Given the description of an element on the screen output the (x, y) to click on. 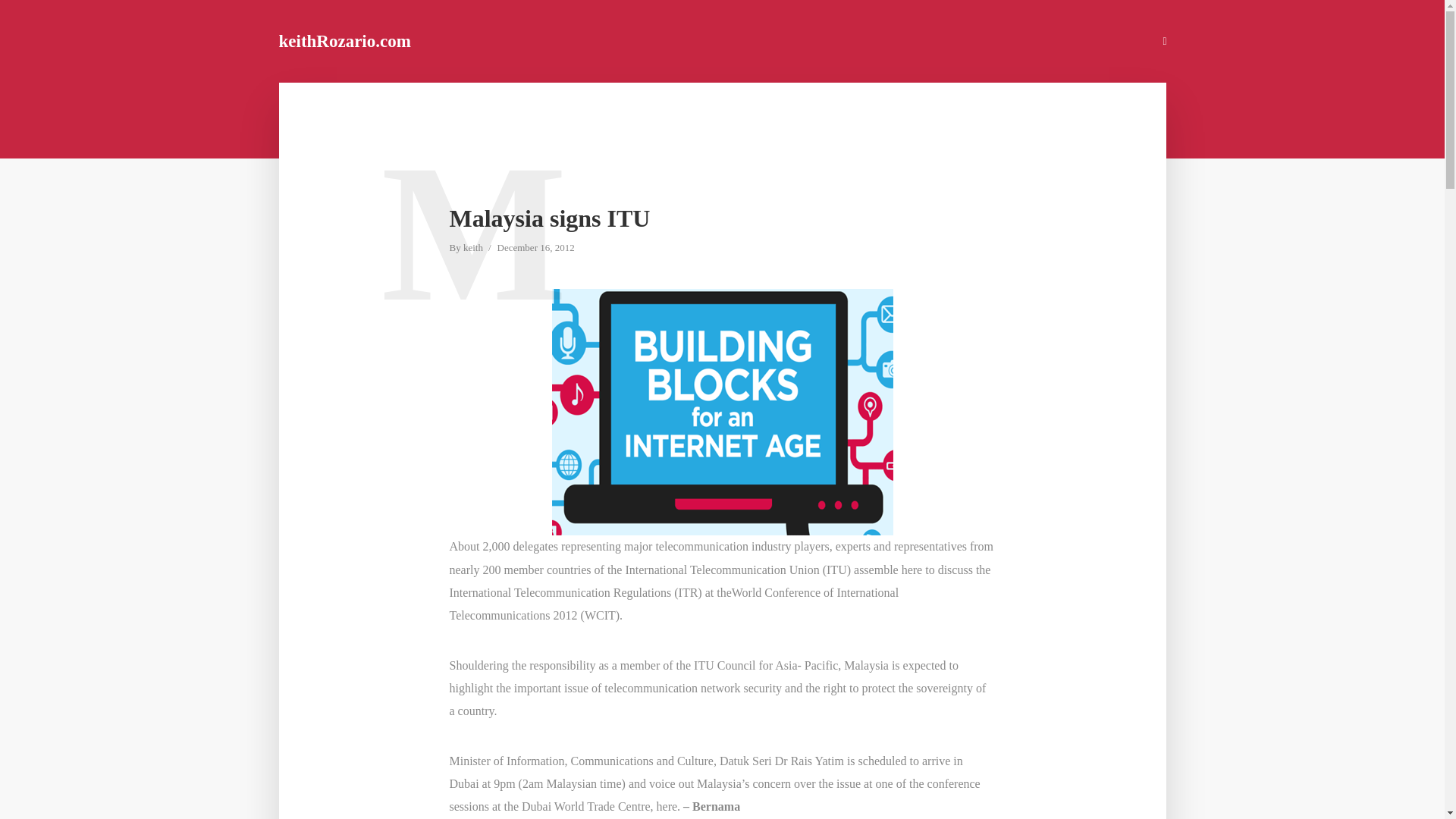
keithRozario.com (344, 40)
building-blocks-slide (722, 412)
keith (473, 248)
